Given the description of an element on the screen output the (x, y) to click on. 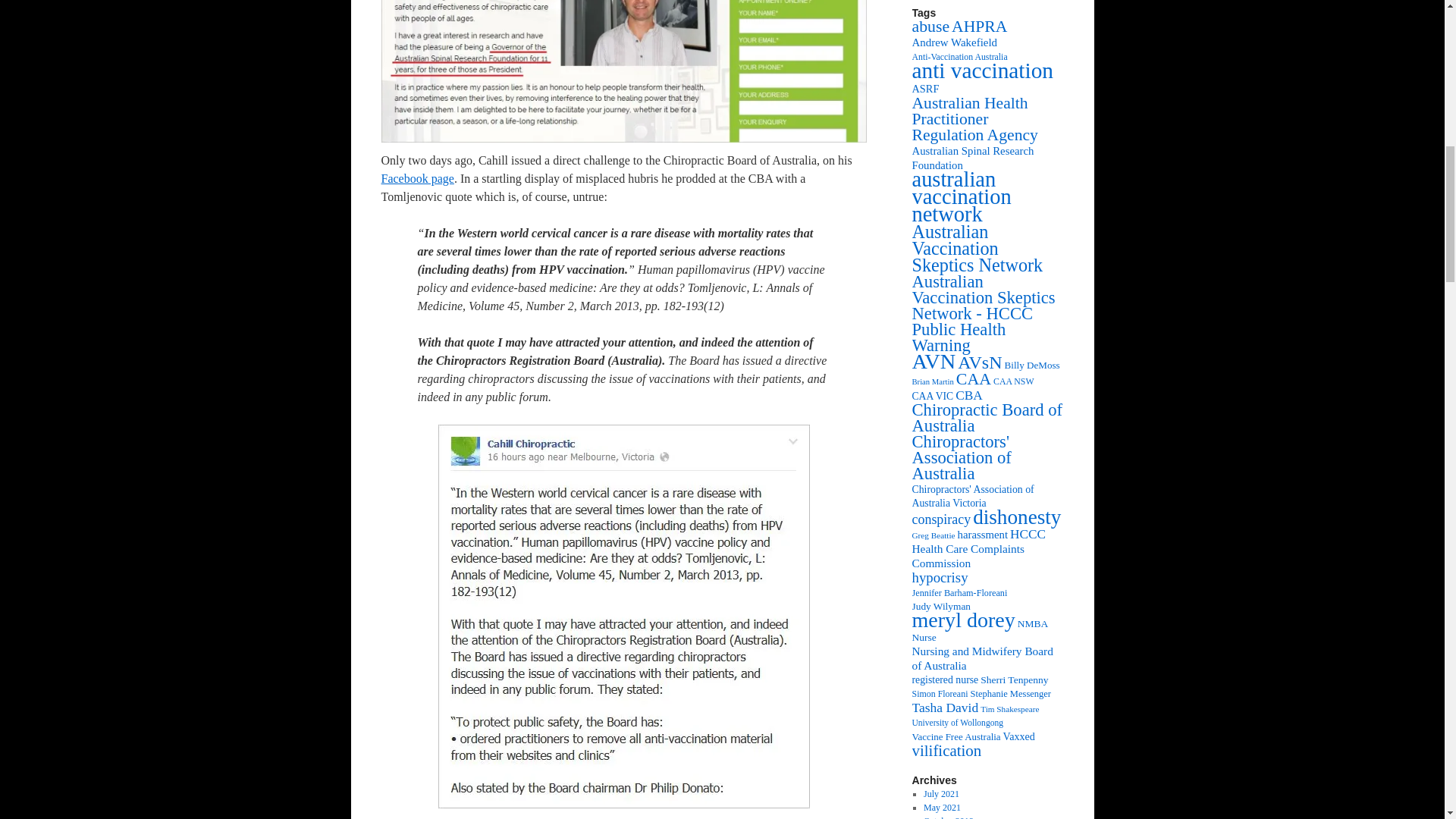
Facebook page (416, 178)
